Given the description of an element on the screen output the (x, y) to click on. 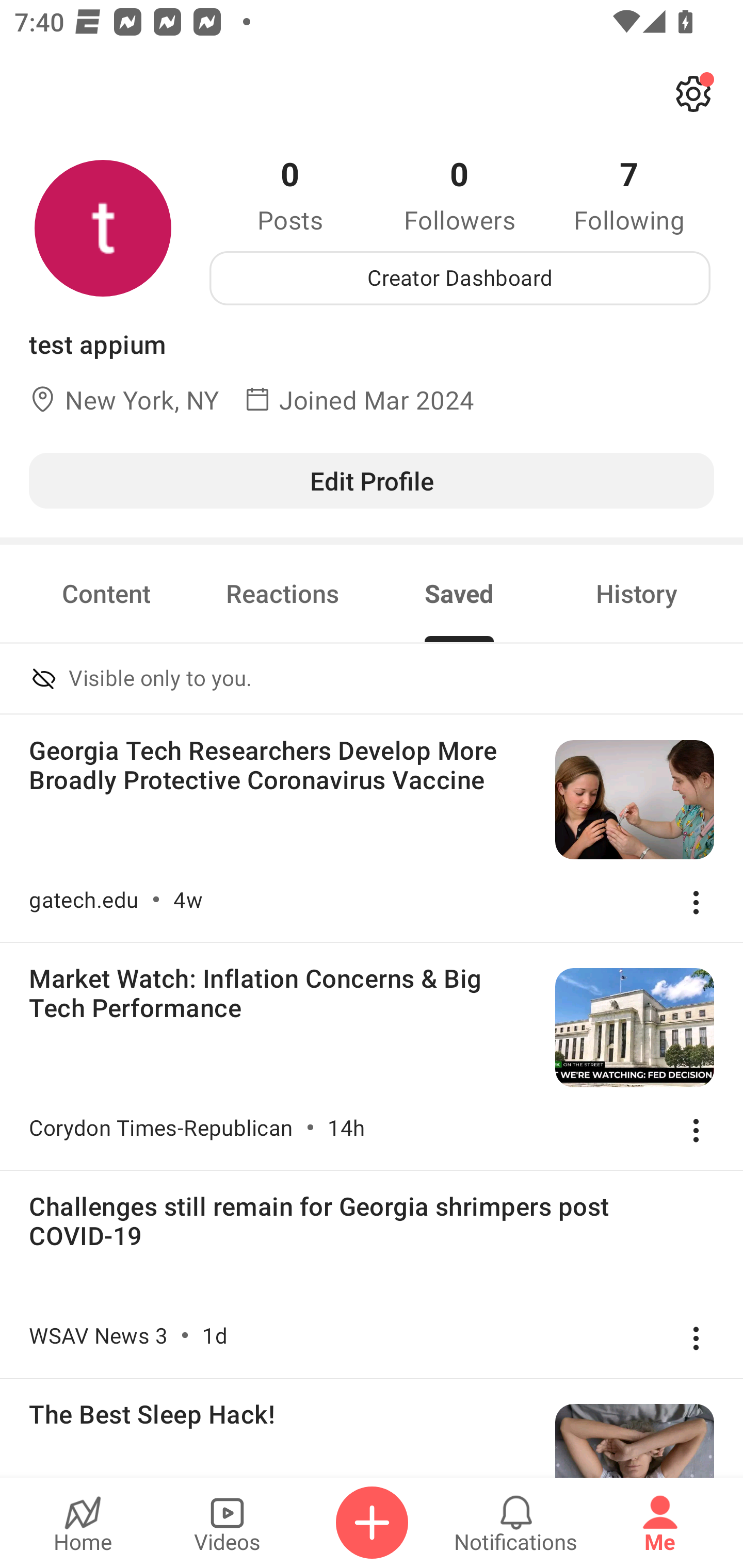
0 Followers (459, 194)
7 Following (629, 194)
Creator Dashboard (459, 277)
Edit Profile (371, 480)
Content (105, 593)
Reactions (282, 593)
History (636, 593)
The Best Sleep Hack! (371, 1427)
Home (83, 1522)
Videos (227, 1522)
Notifications (516, 1522)
